Given the description of an element on the screen output the (x, y) to click on. 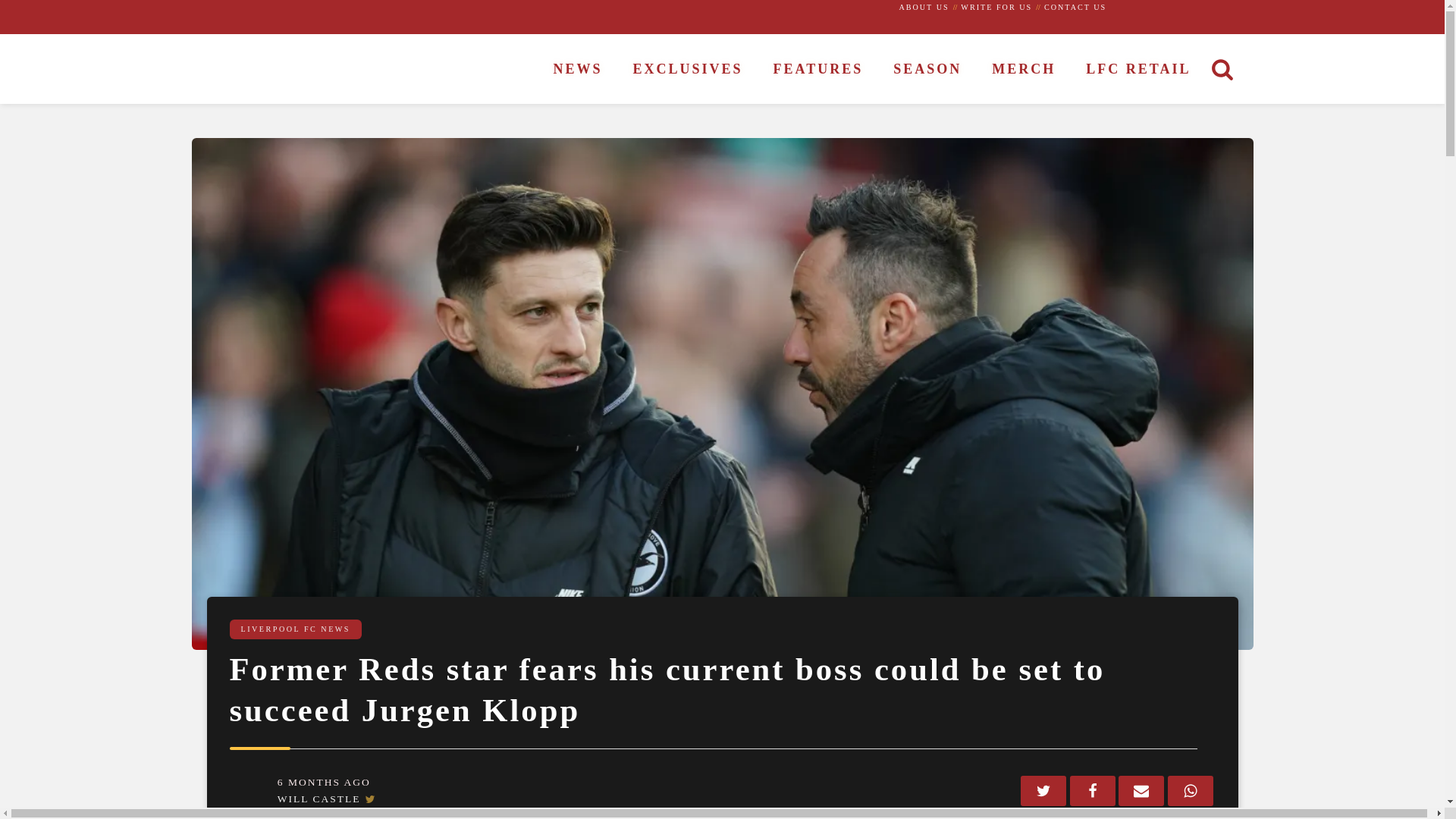
WILL CASTLE (319, 799)
NEWS (577, 69)
SEASON (926, 69)
LFC RETAIL (1137, 69)
LIVERPOOL FC NEWS (295, 628)
ABOUT US (923, 7)
WRITE FOR US (996, 7)
EXCLUSIVES (687, 69)
Search (27, 10)
FEATURES (818, 69)
CONTACT US (1074, 7)
MERCH (1023, 69)
